Given the description of an element on the screen output the (x, y) to click on. 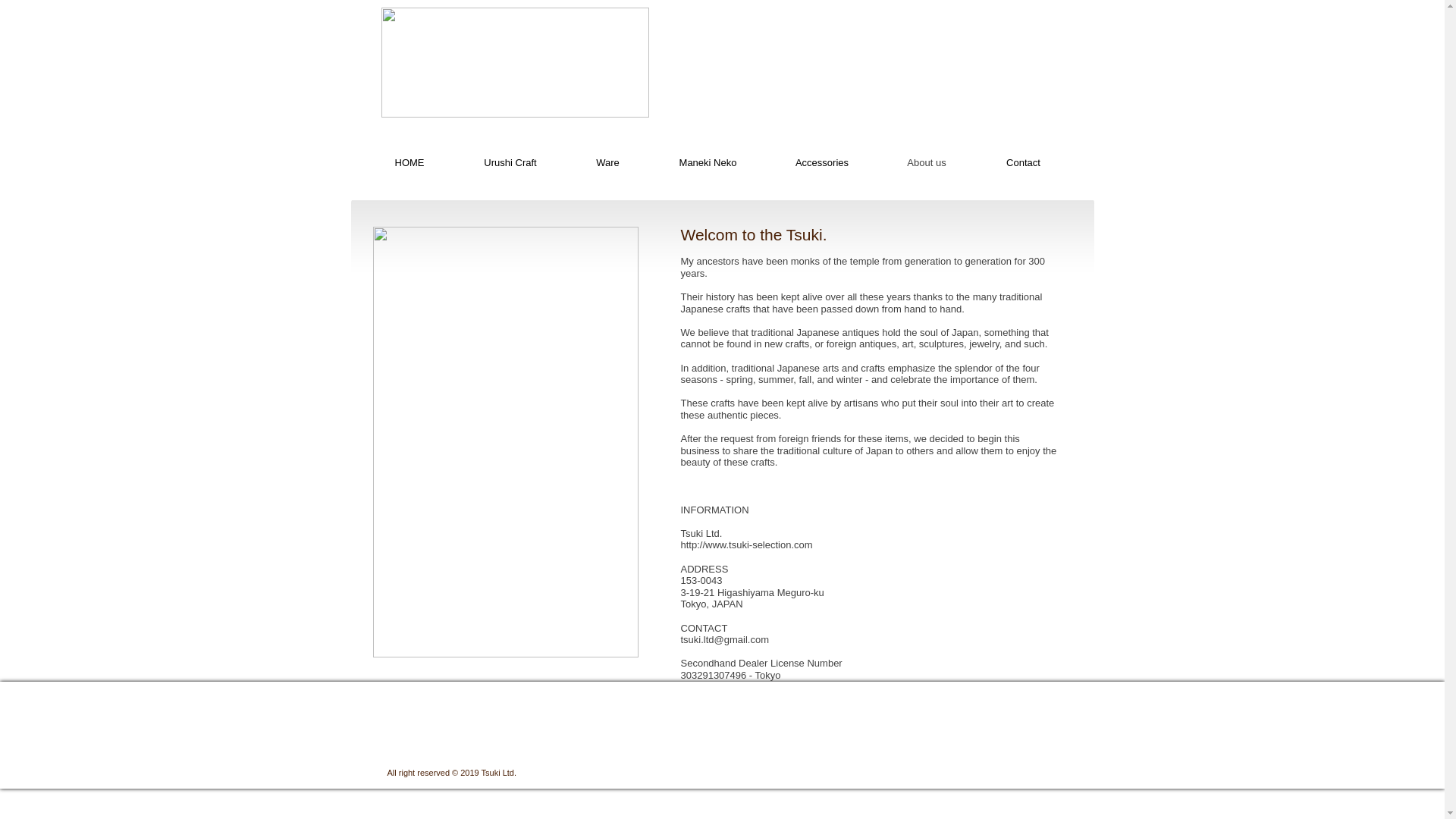
Accessories (822, 162)
About us (925, 162)
logo2.png (513, 62)
Twitter Tweet (924, 758)
Contact (1023, 162)
HOME (409, 162)
Urushi Craft (509, 162)
Maneki Neko (708, 162)
Ware (608, 162)
